Given the description of an element on the screen output the (x, y) to click on. 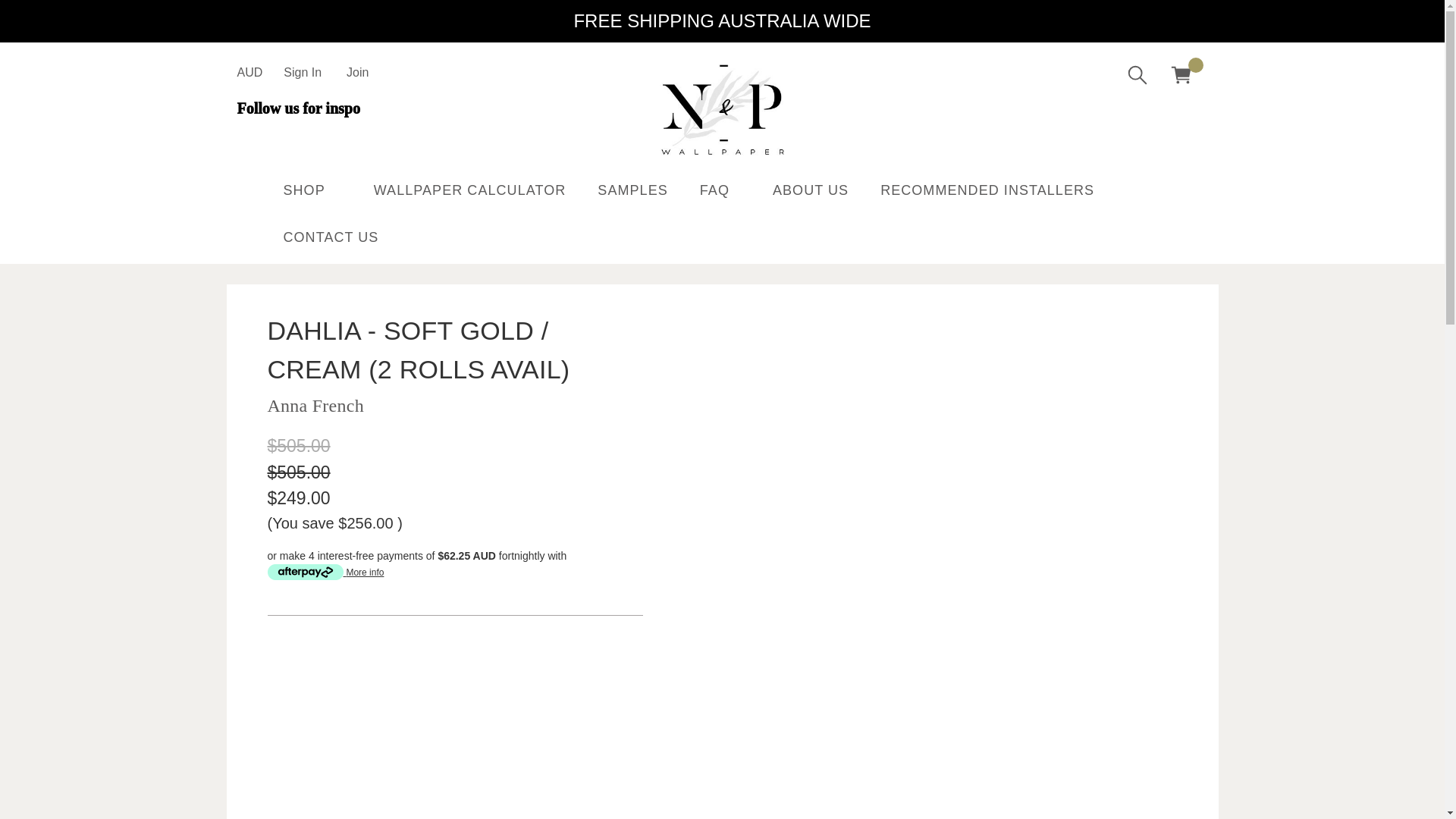
Pinterest (306, 136)
Join (357, 72)
Facebook (275, 136)
Instagram (243, 136)
SHOP (311, 193)
Sign In (302, 72)
